Given the description of an element on the screen output the (x, y) to click on. 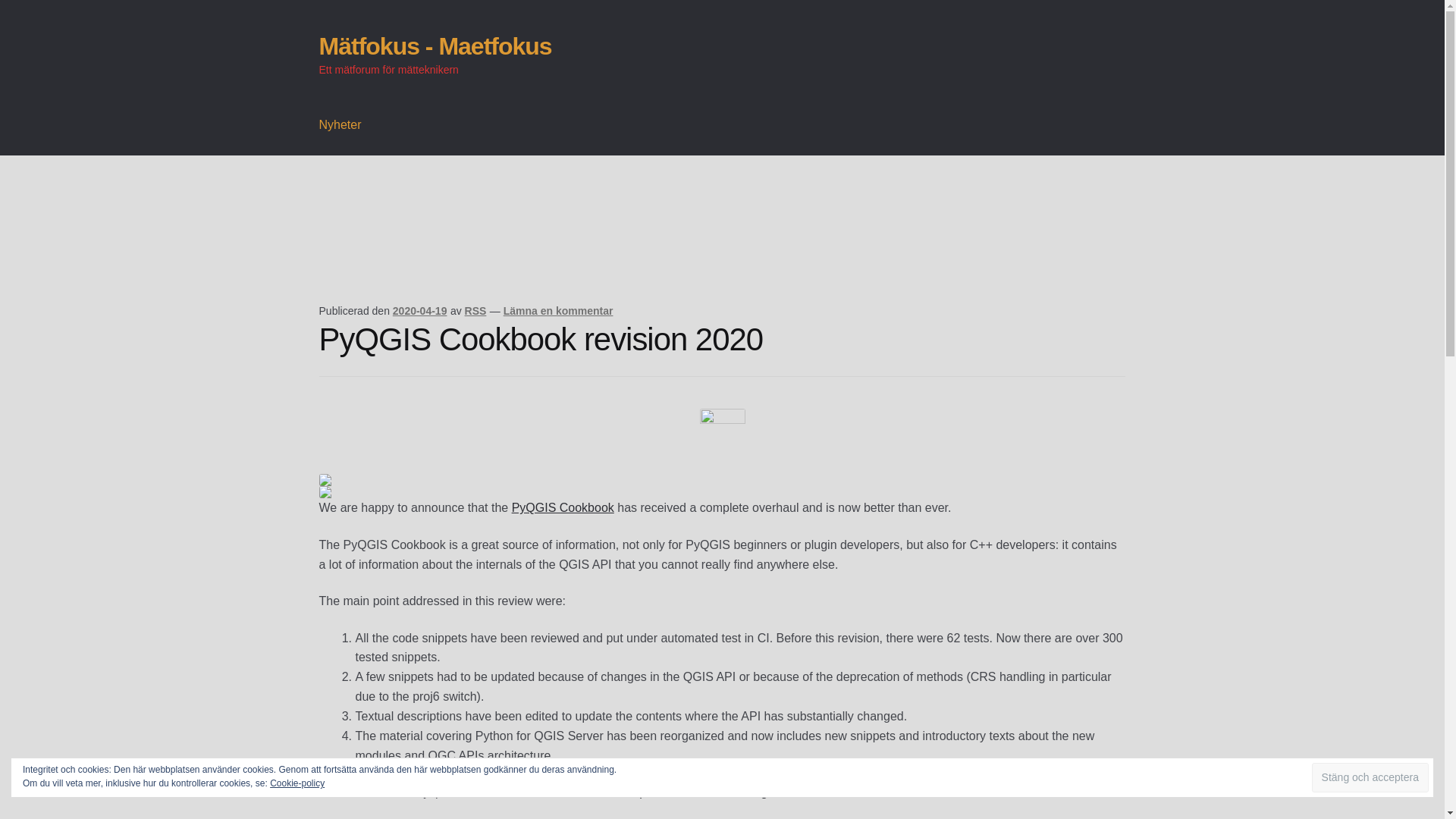
RSS (475, 310)
Nyheter (340, 124)
PyQGIS Cookbook (563, 507)
2020-04-19 (419, 310)
Cookie-policy (296, 783)
